Given the description of an element on the screen output the (x, y) to click on. 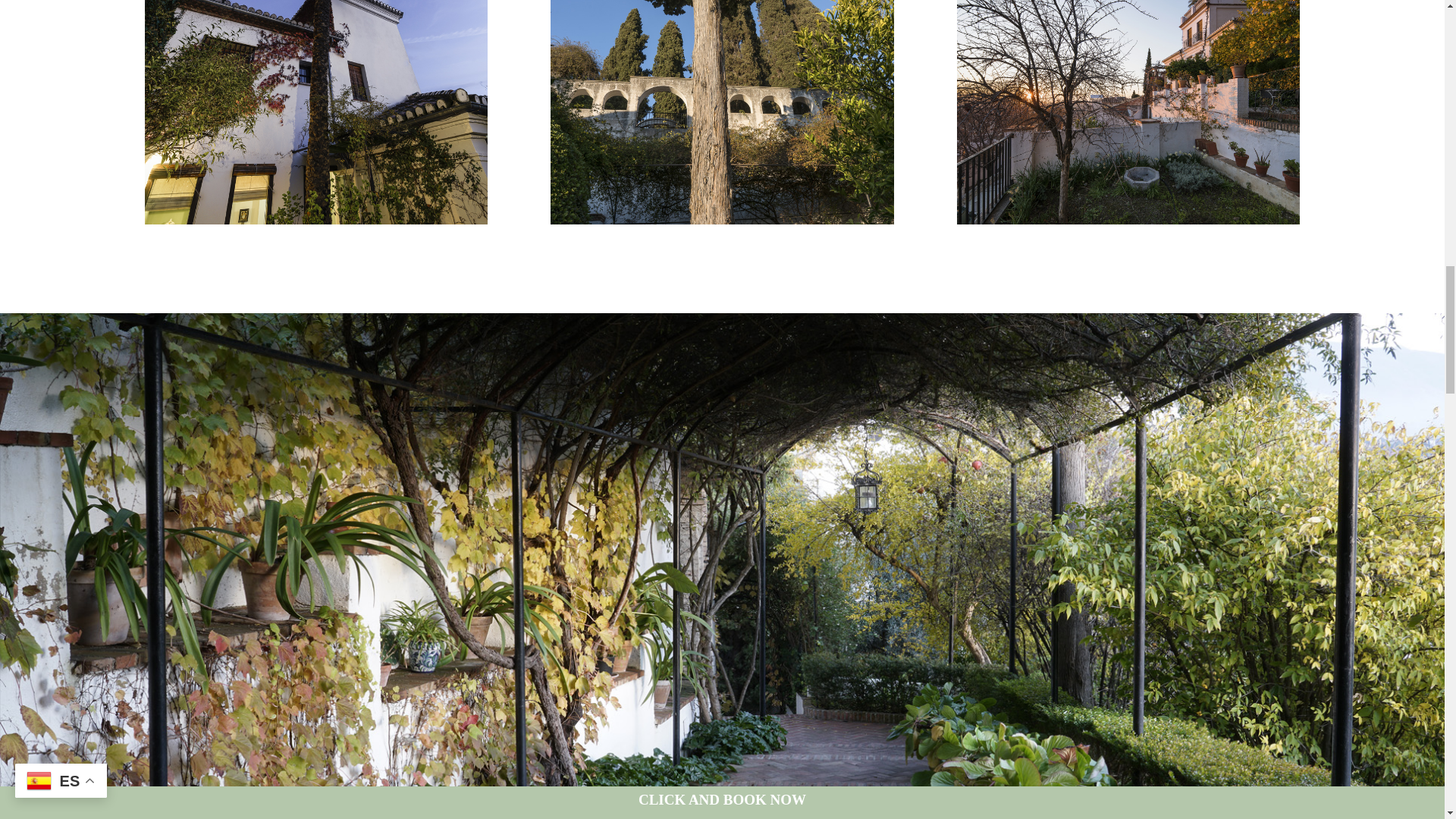
hotel boutique carmen centro granada vistas sierra nevada (721, 112)
hotel boutique carmen centro granada vistas sierra nevada 7 (1128, 112)
